Given the description of an element on the screen output the (x, y) to click on. 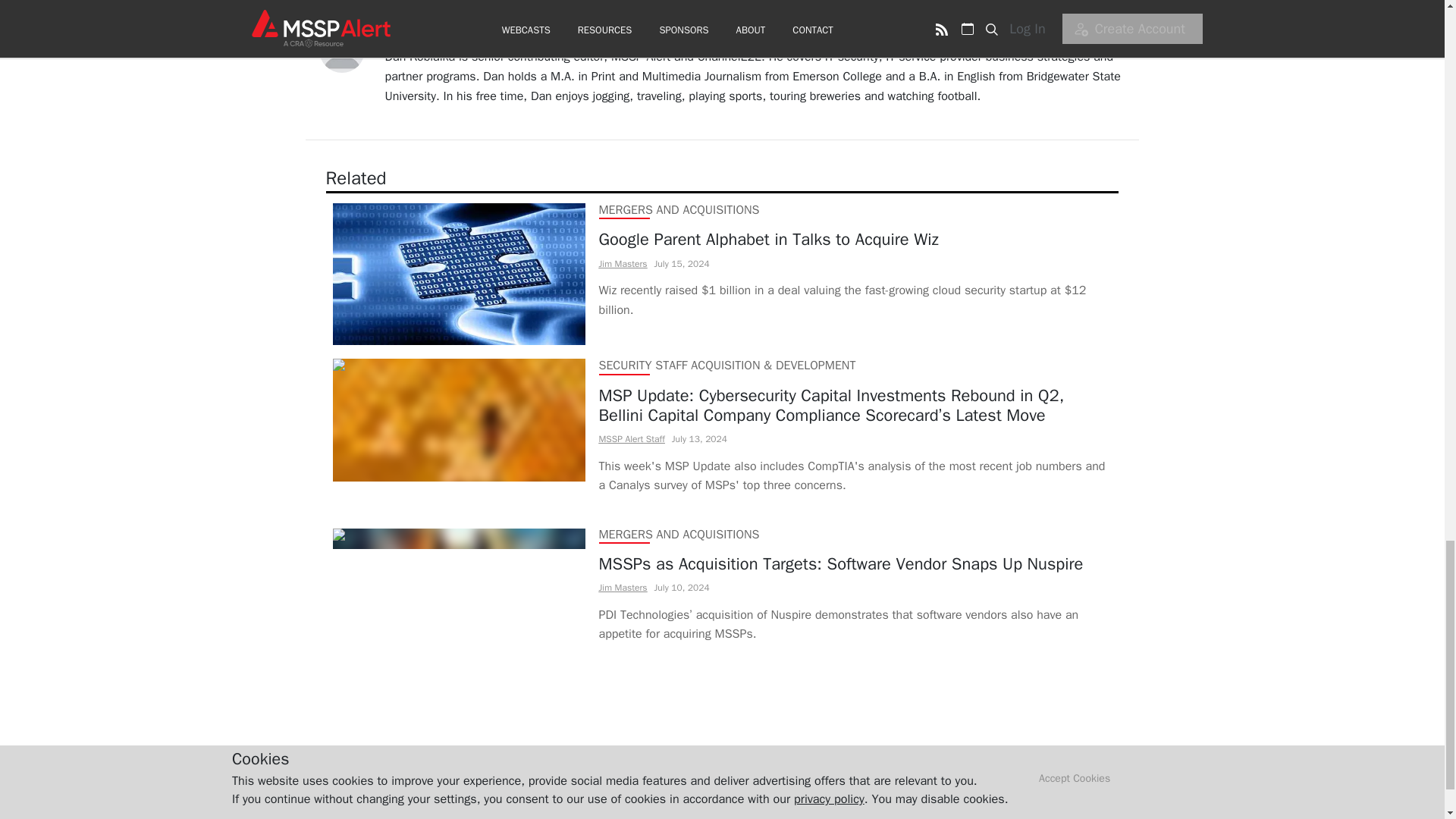
Jim Masters (622, 587)
MERGERS AND ACQUISITIONS (679, 534)
Dan Kobialka (420, 37)
Jim Masters (622, 263)
Google Parent Alphabet in Talks to Acquire Wiz (855, 239)
MSSP Alert Staff (631, 439)
MERGERS AND ACQUISITIONS (679, 209)
